Given the description of an element on the screen output the (x, y) to click on. 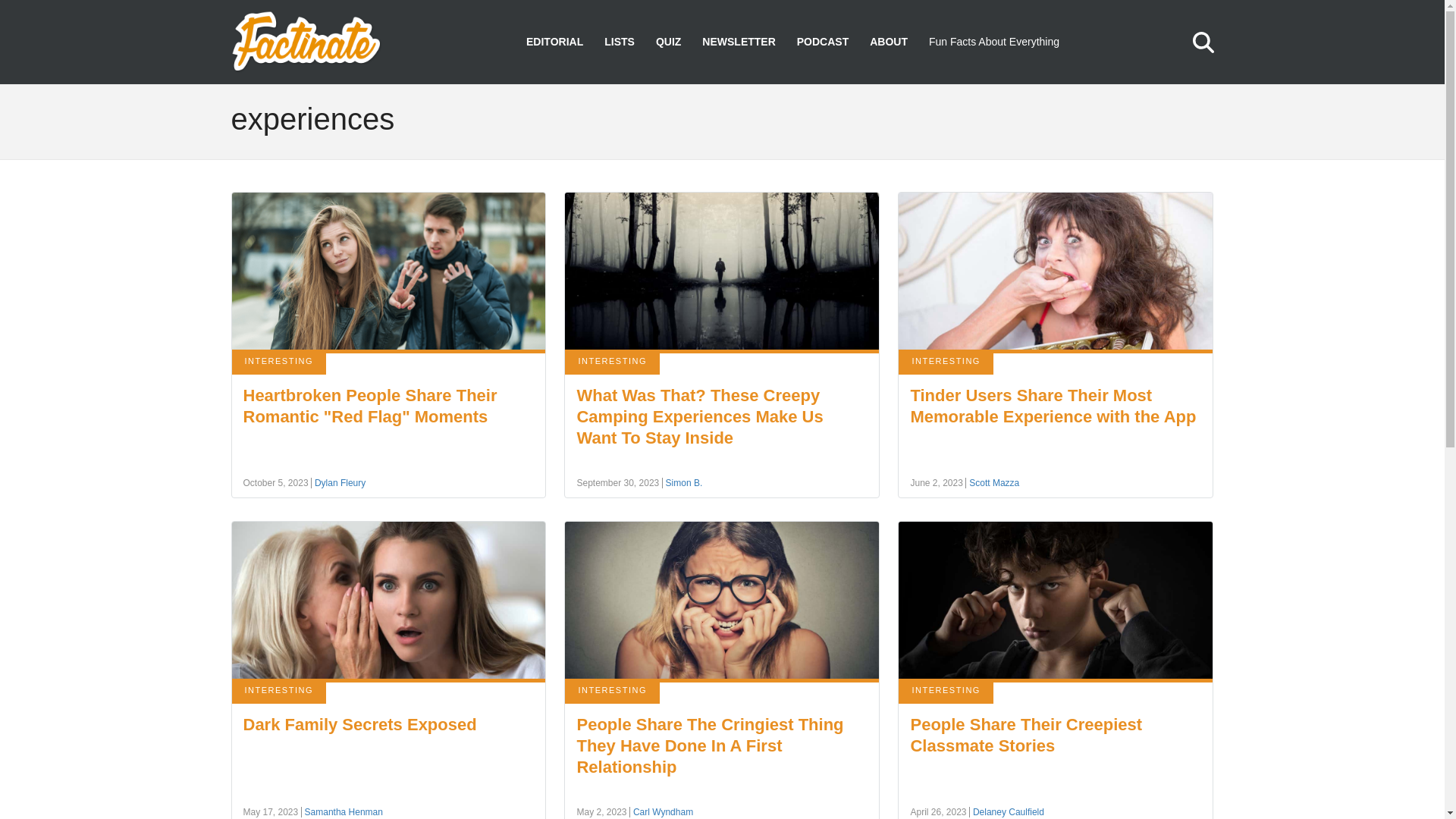
LISTS (619, 41)
INTERESTING (278, 361)
Dylan Fleury (338, 482)
NEWSLETTER (737, 41)
EDITORIAL (554, 41)
ABOUT (888, 41)
QUIZ (668, 41)
PODCAST (822, 41)
Heartbroken People Share Their Romantic "Red Flag" Moments (369, 405)
